Given the description of an element on the screen output the (x, y) to click on. 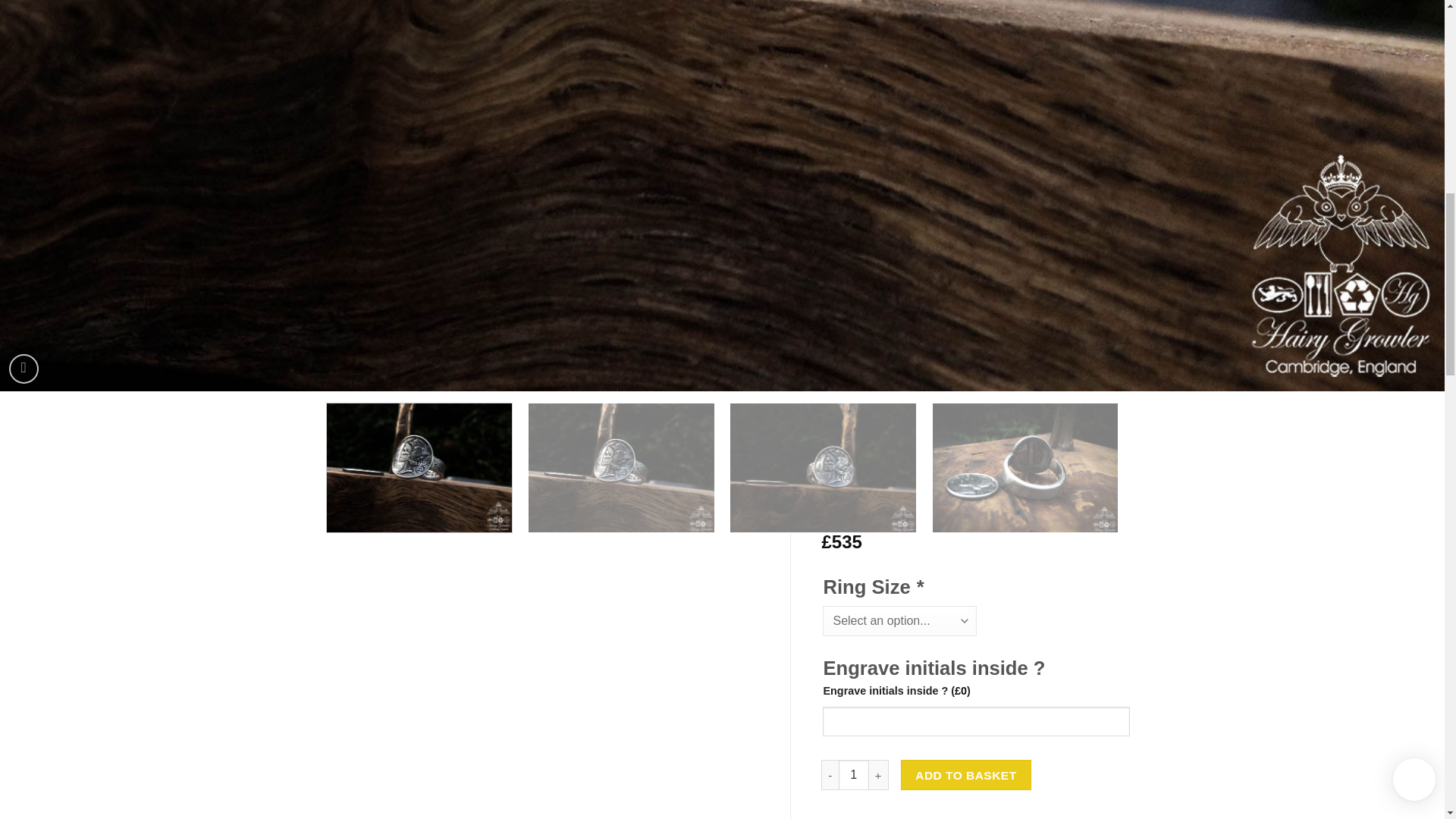
Required field (919, 586)
Zoom (23, 368)
- (829, 775)
1 (853, 775)
